Given the description of an element on the screen output the (x, y) to click on. 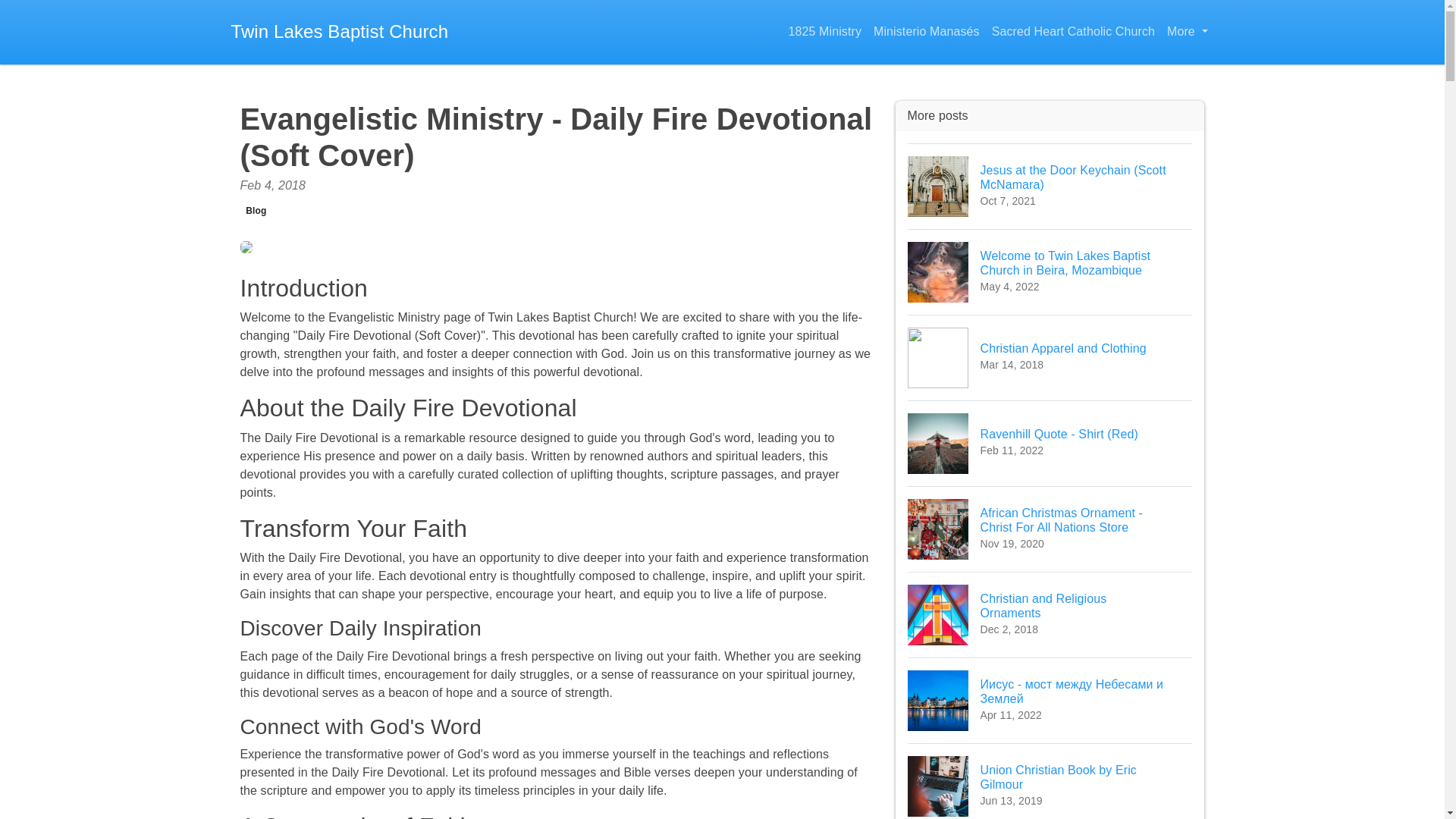
Sacred Heart Catholic Church (1049, 780)
1825 Ministry (1072, 32)
Blog (1049, 614)
Twin Lakes Baptist Church (825, 32)
More (256, 210)
